Given the description of an element on the screen output the (x, y) to click on. 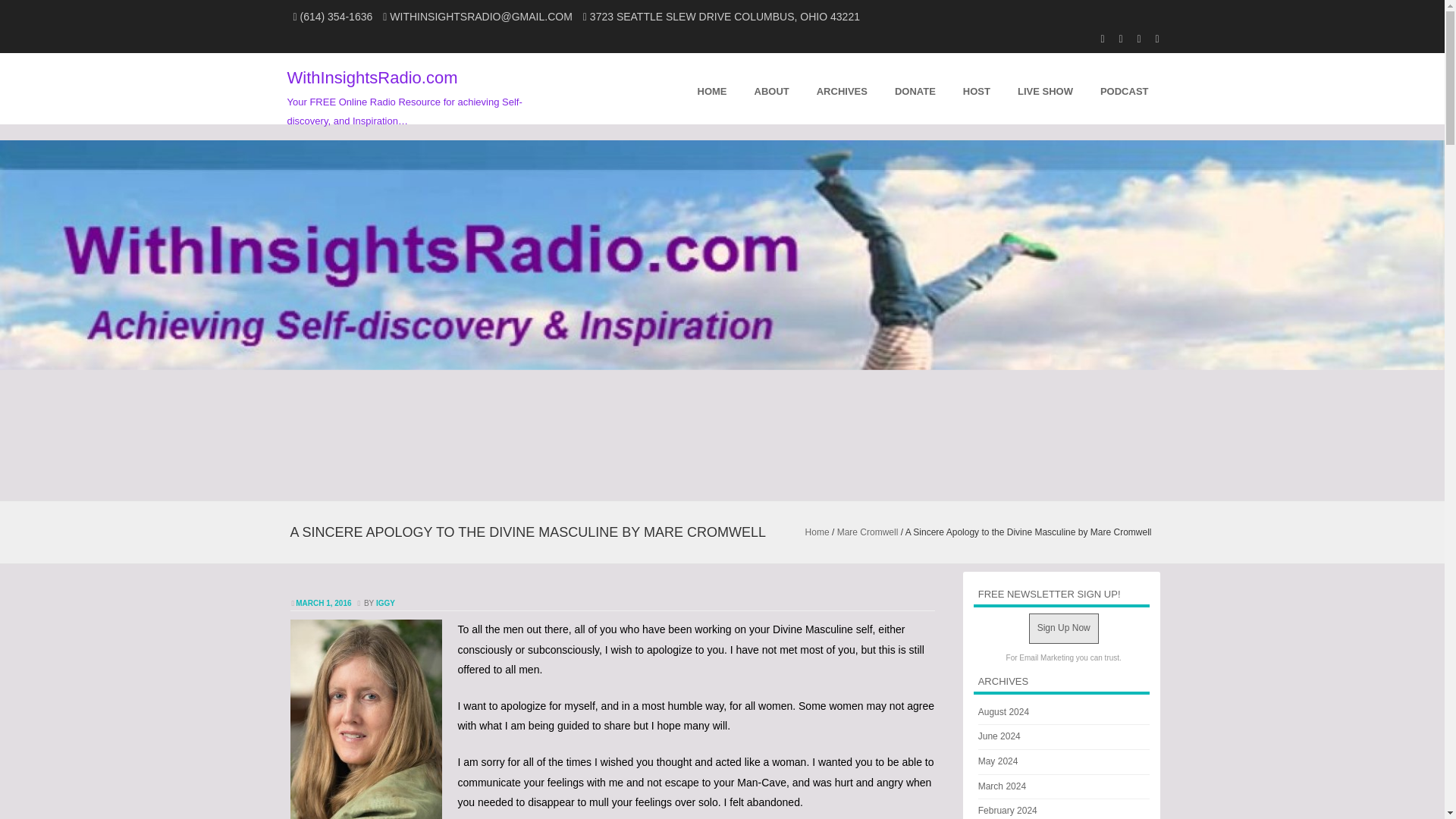
Twitter (1149, 37)
February 2024 (1007, 810)
Facebook (1131, 37)
May 2024 (997, 760)
Mare Cromwell (867, 532)
June 2024 (999, 736)
WithInsightsRadio.com (371, 76)
Live Show (1045, 88)
PODCAST (1123, 88)
Youtube (1094, 37)
